Given the description of an element on the screen output the (x, y) to click on. 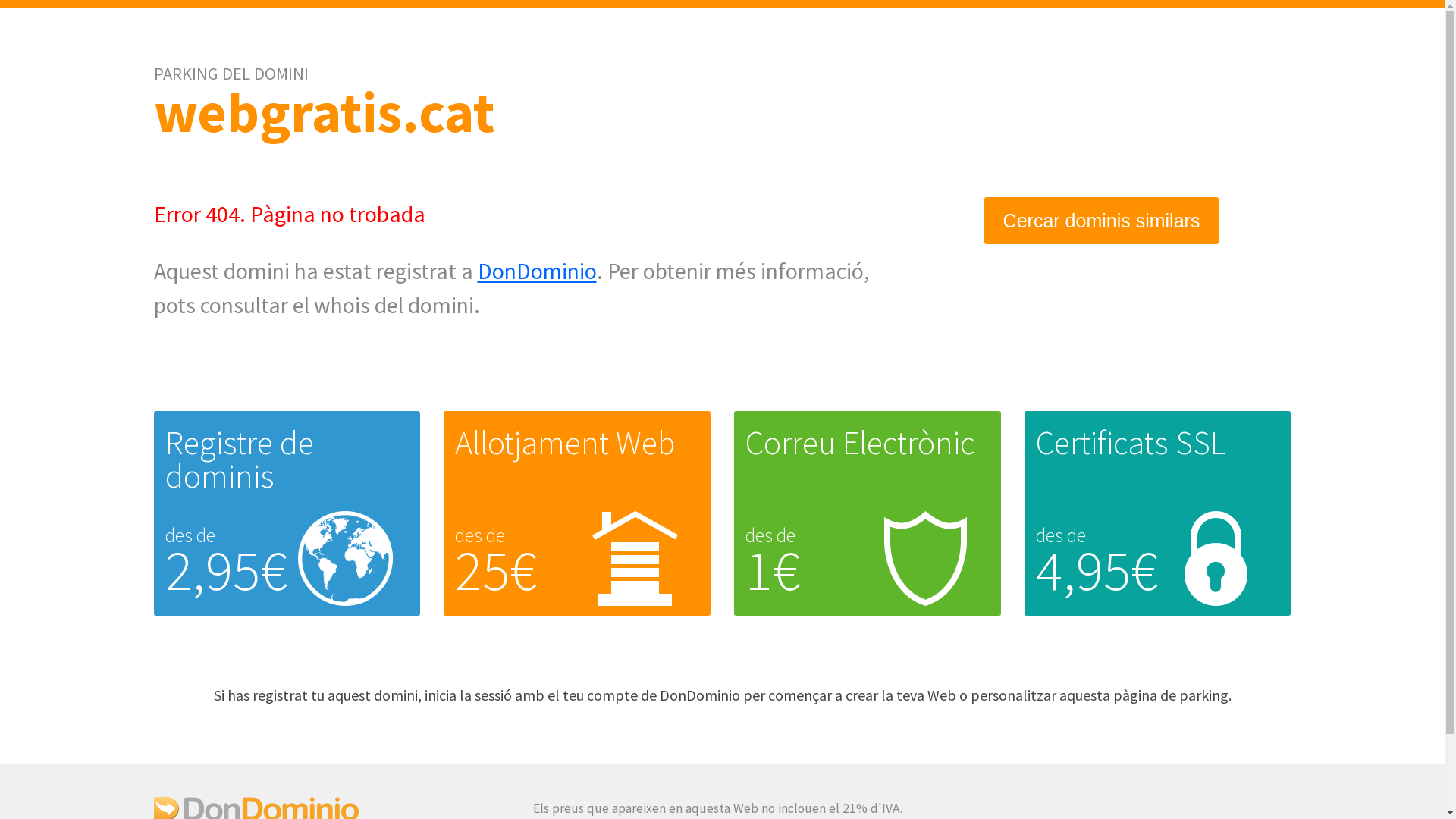
Cercar dominis similars Element type: text (1101, 220)
DonDominio Element type: text (536, 270)
Certificats SSL Element type: text (1130, 442)
Registre de dominis Element type: text (239, 458)
Allotjament Web Element type: text (564, 442)
